Given the description of an element on the screen output the (x, y) to click on. 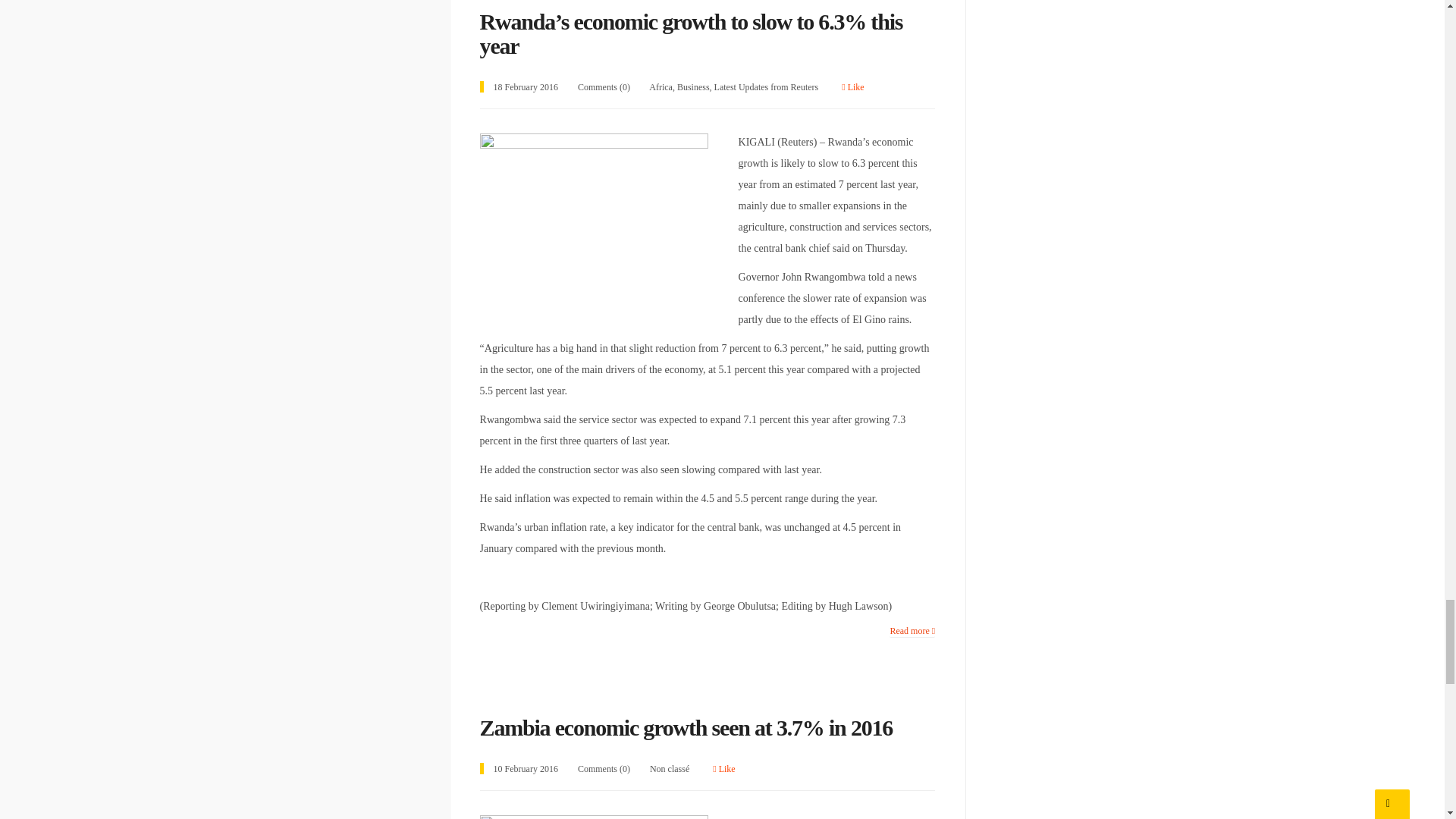
Like (724, 768)
Like (852, 86)
